Given the description of an element on the screen output the (x, y) to click on. 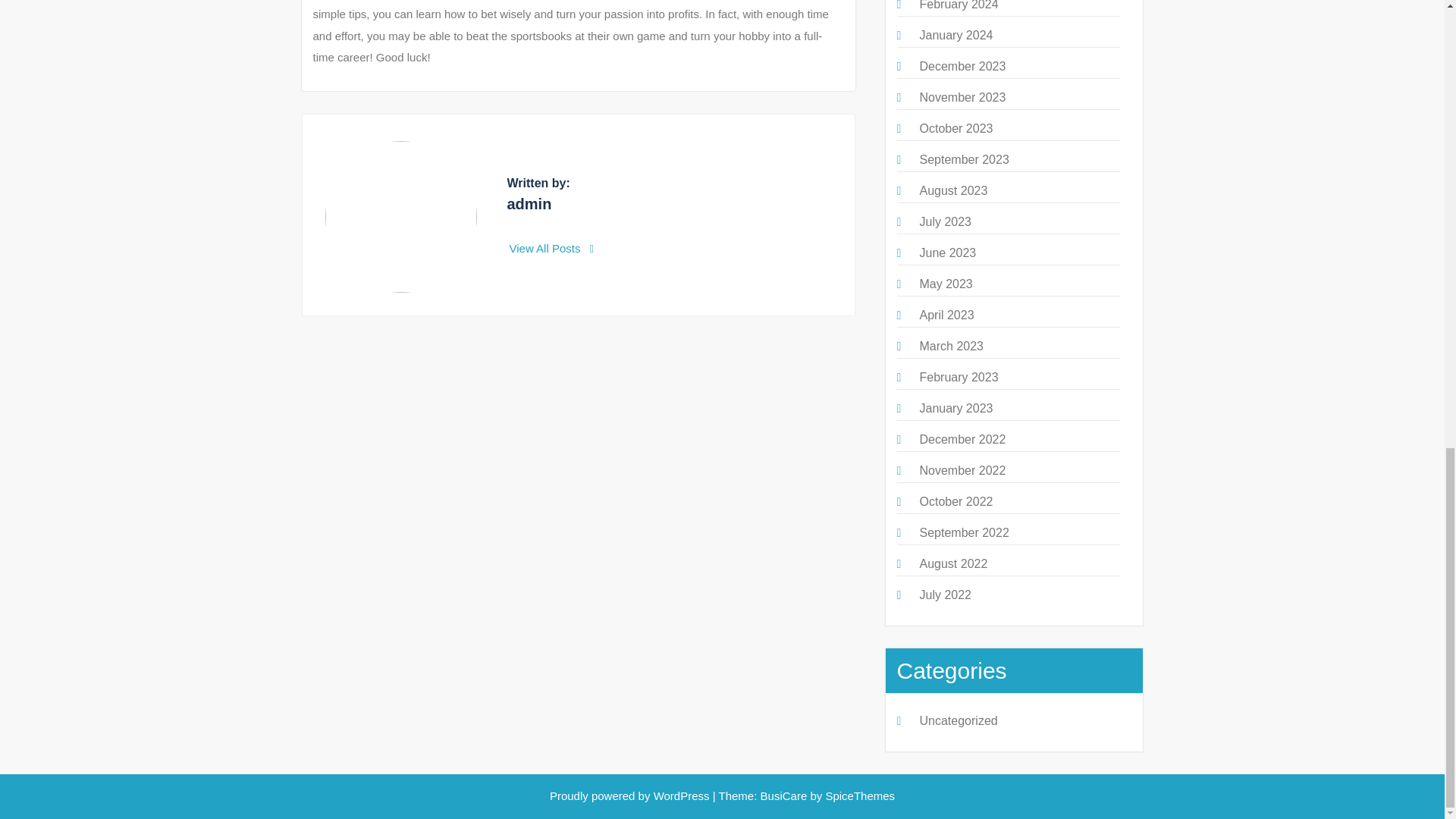
February 2024 (957, 5)
August 2022 (952, 563)
June 2023 (946, 252)
November 2022 (962, 470)
November 2023 (962, 97)
View All Posts (551, 247)
October 2023 (955, 128)
January 2023 (955, 408)
December 2023 (962, 65)
Uncategorized (957, 720)
